Given the description of an element on the screen output the (x, y) to click on. 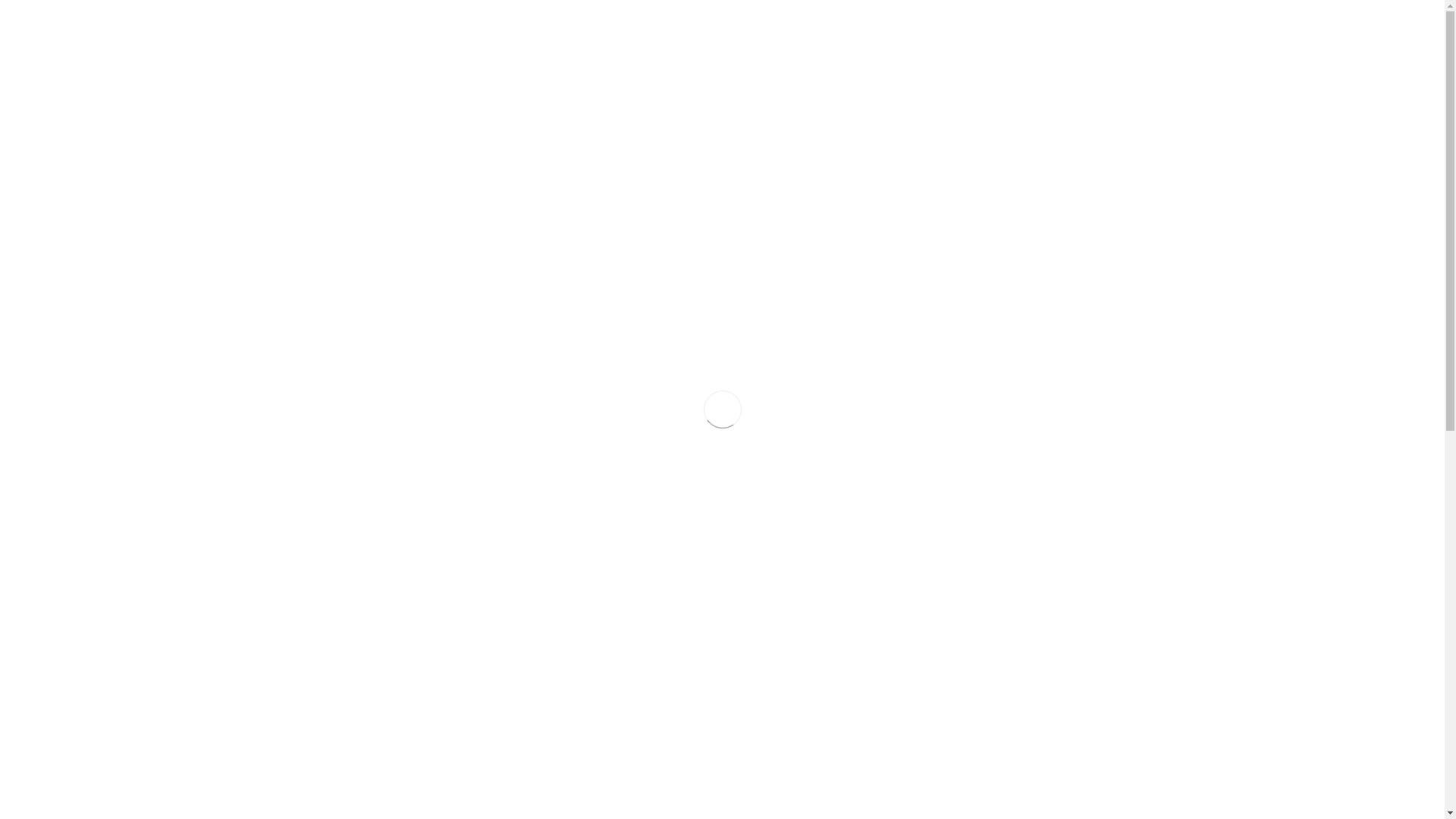
Press Element type: text (1080, 65)
Books Element type: text (1129, 65)
info@bildhalle.ch Element type: text (917, 481)
Facebook Element type: hover (667, 14)
EN Element type: text (305, 14)
Exhibitions Element type: text (875, 65)
Google Maps Element type: text (910, 497)
Fairs Element type: text (982, 65)
Artists Element type: text (935, 65)
Viewing Room Element type: text (797, 65)
Gallery Element type: text (1030, 65)
Instagram Element type: hover (695, 14)
